Given the description of an element on the screen output the (x, y) to click on. 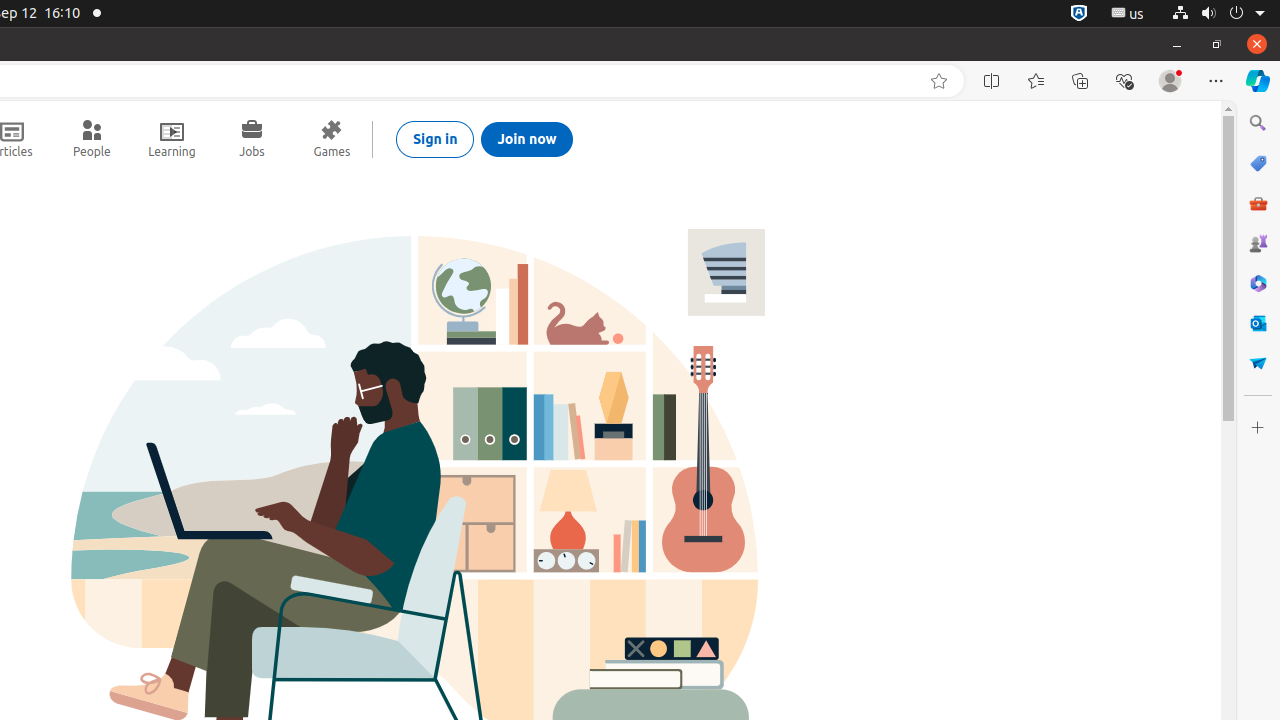
:1.21/StatusNotifierItem Element type: menu (1127, 13)
Microsoft Shopping Element type: push-button (1258, 163)
Profile 1 Profile, Please sign in Element type: push-button (1170, 81)
Customize Element type: push-button (1258, 428)
Drop Element type: push-button (1258, 363)
